Given the description of an element on the screen output the (x, y) to click on. 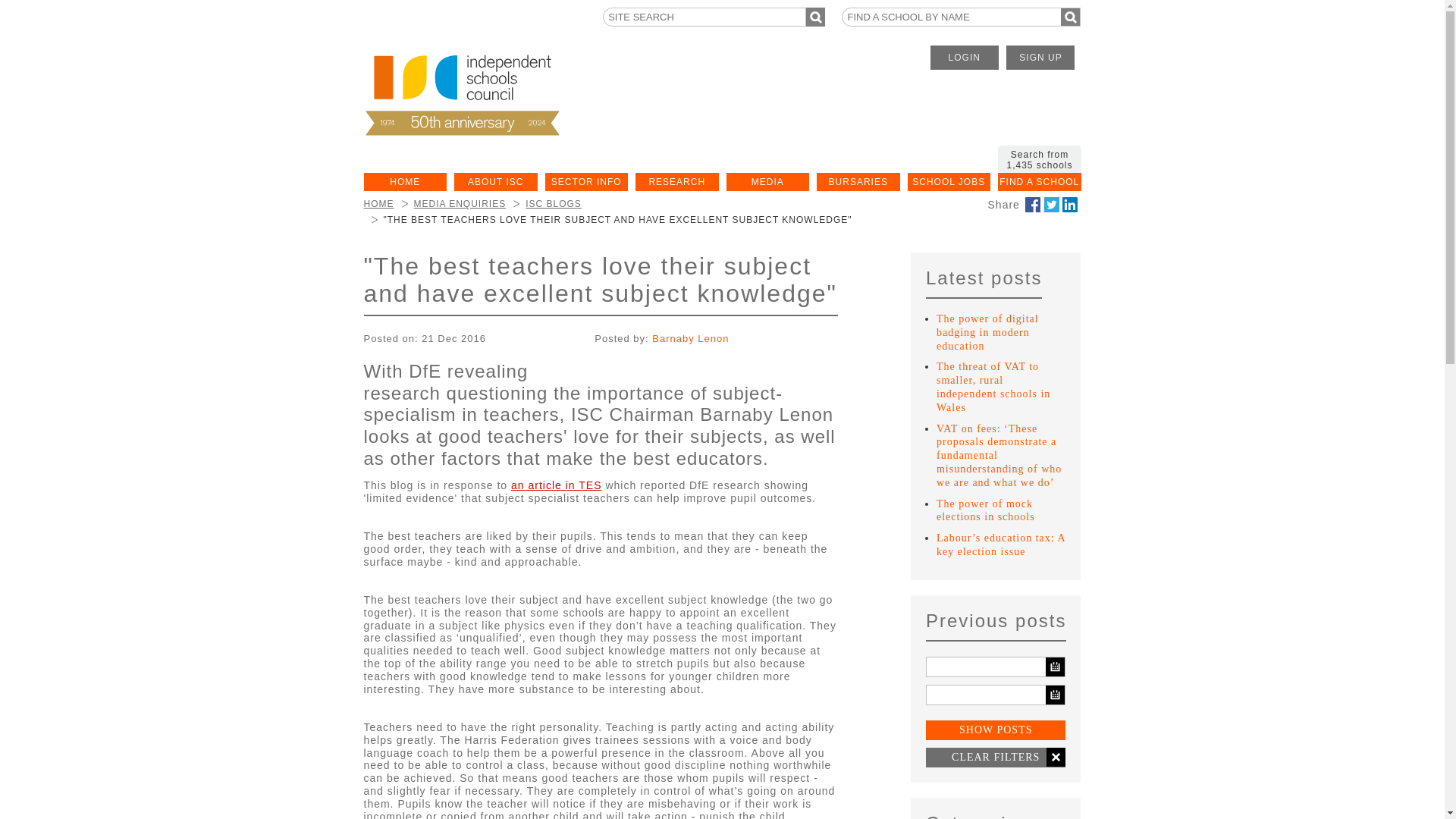
The power of mock elections in schools (985, 510)
MEDIA (767, 181)
ABOUT ISC (495, 181)
The power of digital badging in modern education (987, 332)
RESEARCH (676, 181)
HOME (405, 181)
SIGN UP (1040, 57)
SECTOR INFO (585, 181)
Show Posts (995, 730)
LOGIN (964, 57)
